Given the description of an element on the screen output the (x, y) to click on. 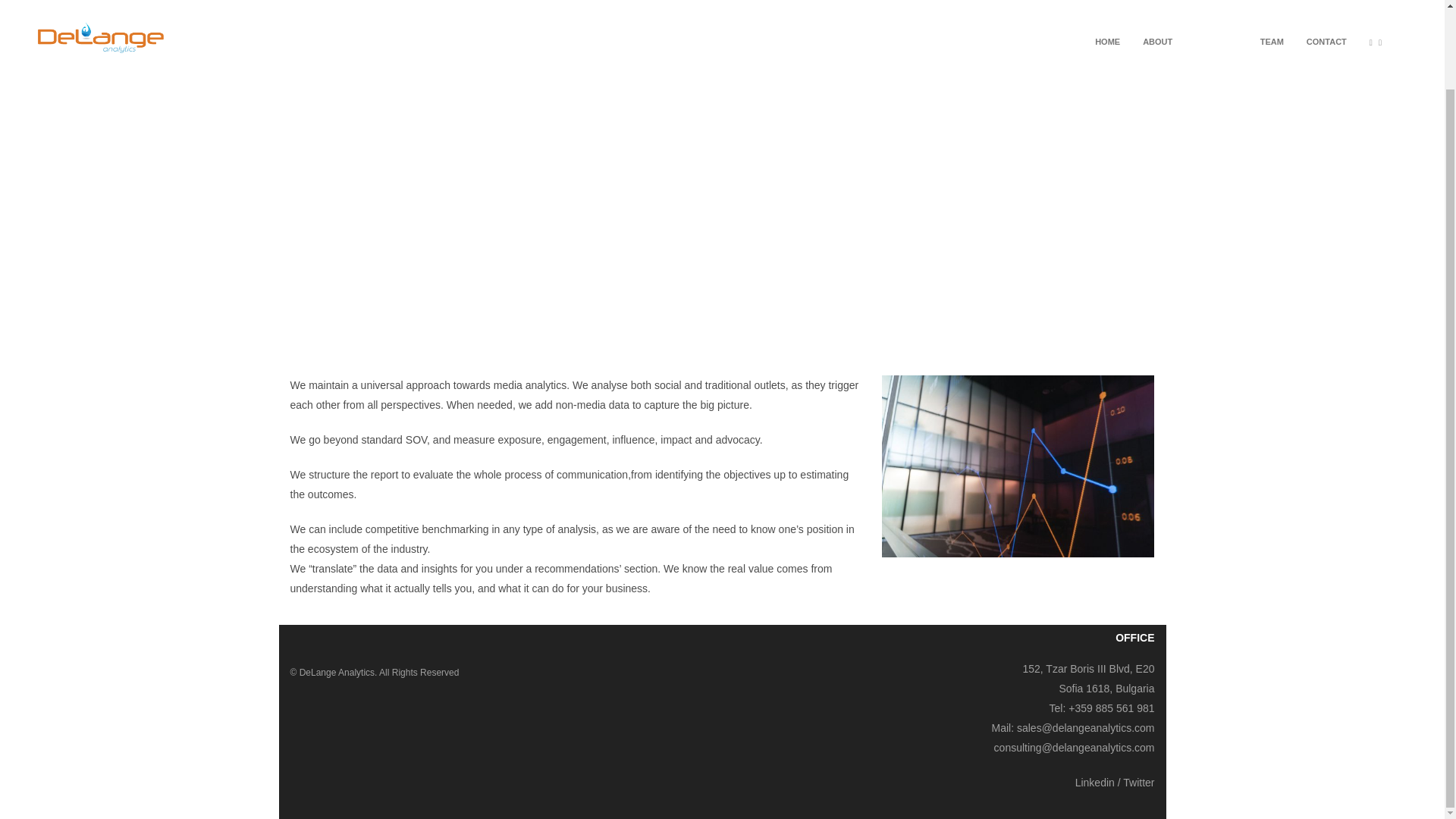
Twitter (1138, 782)
Linkedin (1095, 782)
media intelligence2 1440x900-7 (1017, 466)
